Given the description of an element on the screen output the (x, y) to click on. 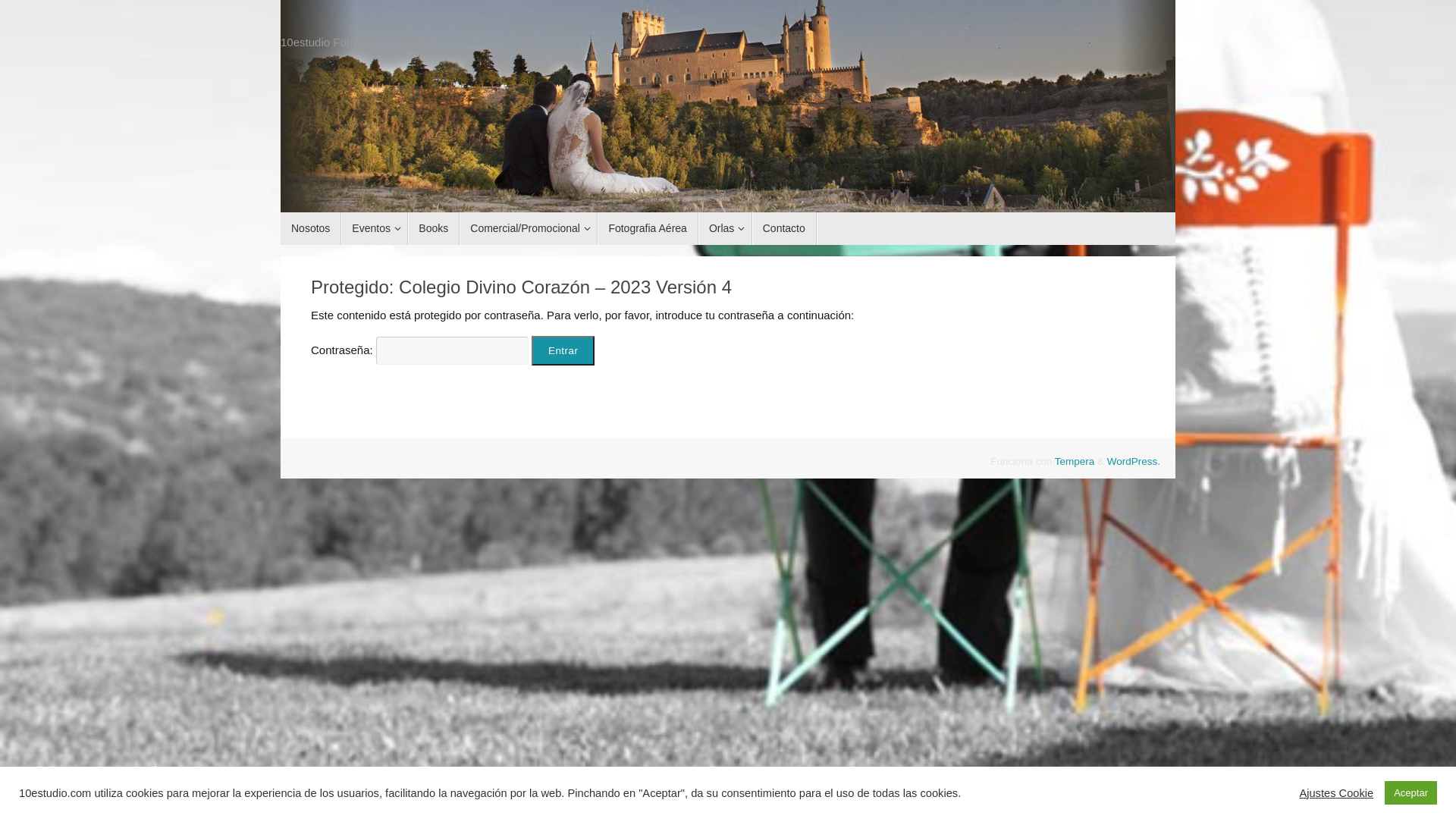
WordPress. Element type: text (1133, 461)
Eventos Element type: text (374, 228)
Orlas Element type: text (725, 228)
Nosotos Element type: text (310, 228)
Contacto Element type: text (784, 228)
Entrar Element type: text (562, 350)
Tempera Element type: text (1074, 461)
Ajustes Cookie Element type: text (1336, 792)
Books Element type: text (433, 228)
Comercial/Promocional Element type: text (528, 228)
Aceptar Element type: text (1410, 792)
Saltar al contenido Element type: text (279, 235)
